Given the description of an element on the screen output the (x, y) to click on. 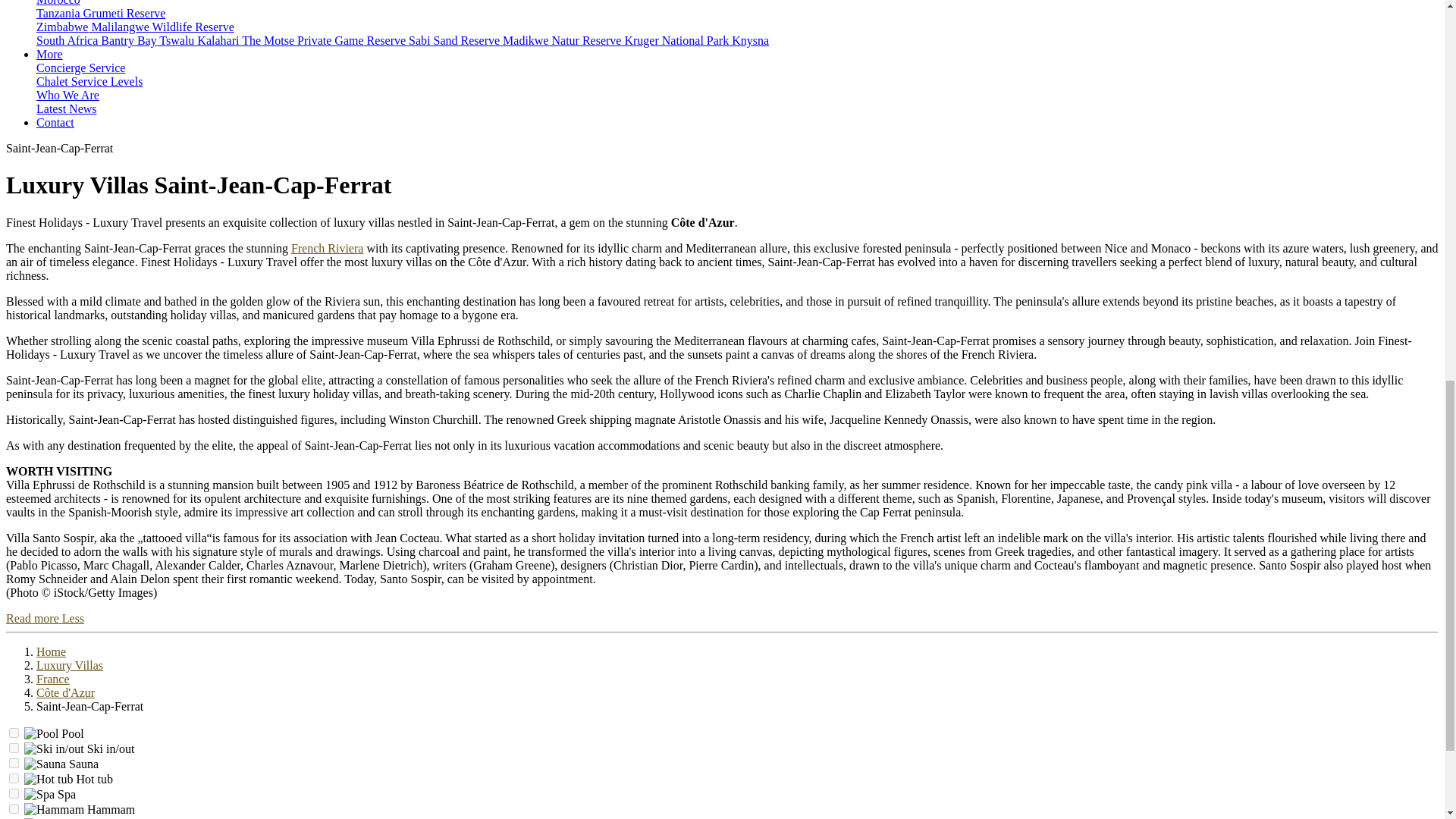
pool (13, 732)
sauna (13, 763)
hammam (13, 808)
spa (13, 793)
hottub (13, 777)
